Given the description of an element on the screen output the (x, y) to click on. 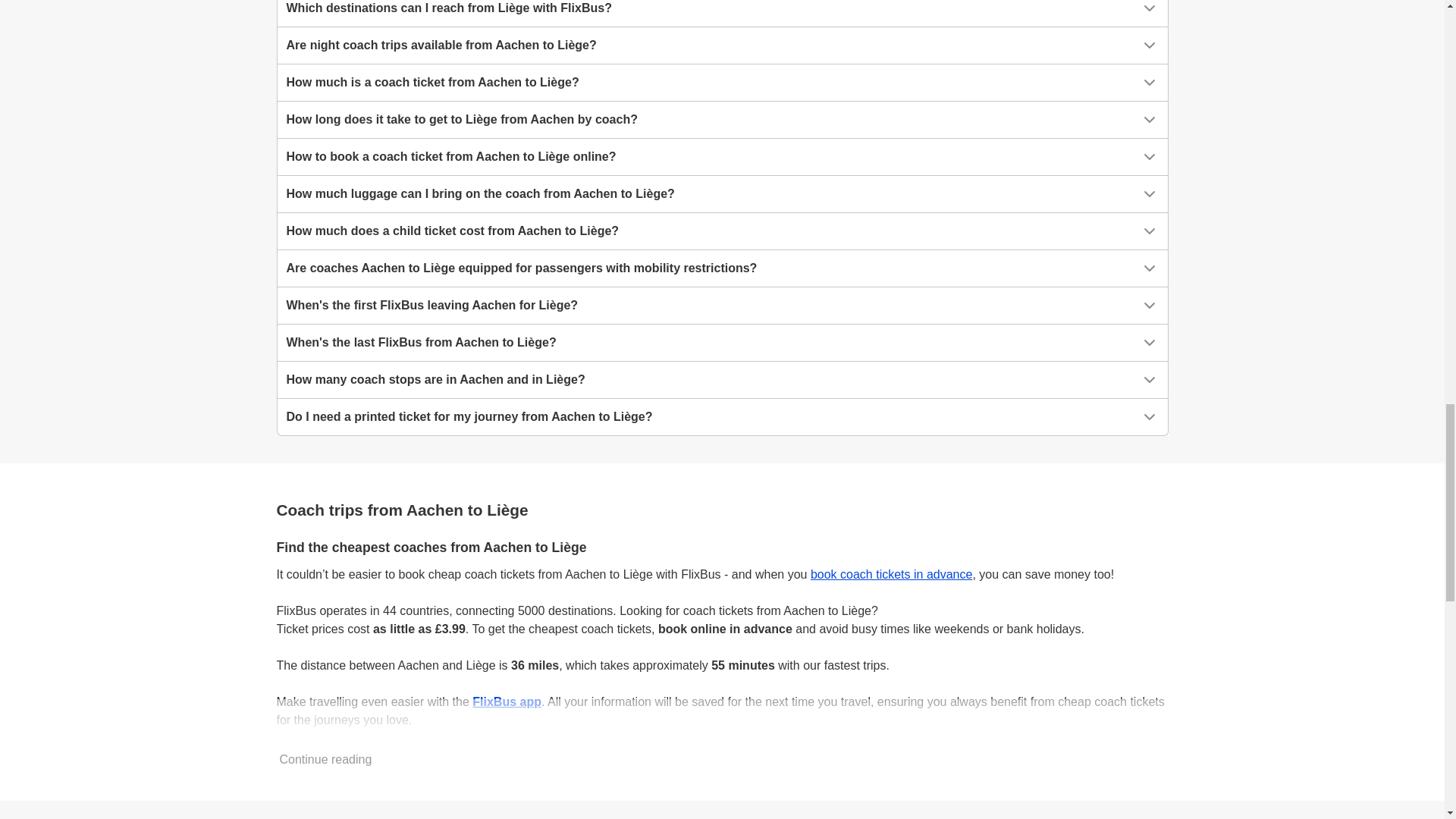
FlixBus app (506, 701)
Continue reading (326, 759)
book coach tickets in advance (891, 574)
